Given the description of an element on the screen output the (x, y) to click on. 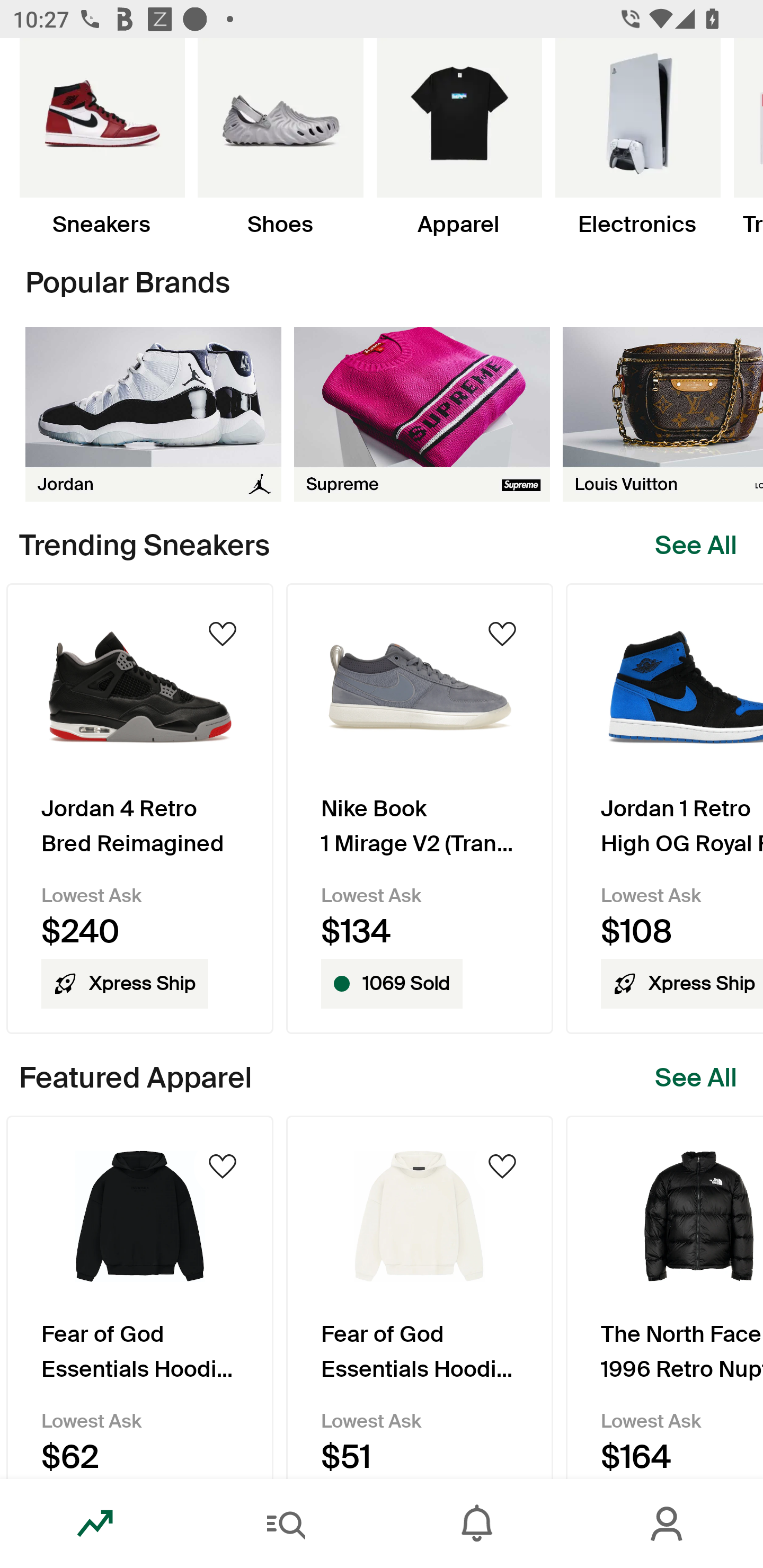
Product Image Sneakers (101, 137)
Product Image Shoes (280, 137)
Product Image Apparel (458, 137)
Product Image Electronics (637, 137)
jordan.jpg (153, 413)
supreme.jpg (421, 413)
lv.jpg (663, 413)
See All (695, 545)
See All (695, 1077)
Search (285, 1523)
Inbox (476, 1523)
Account (667, 1523)
